Given the description of an element on the screen output the (x, y) to click on. 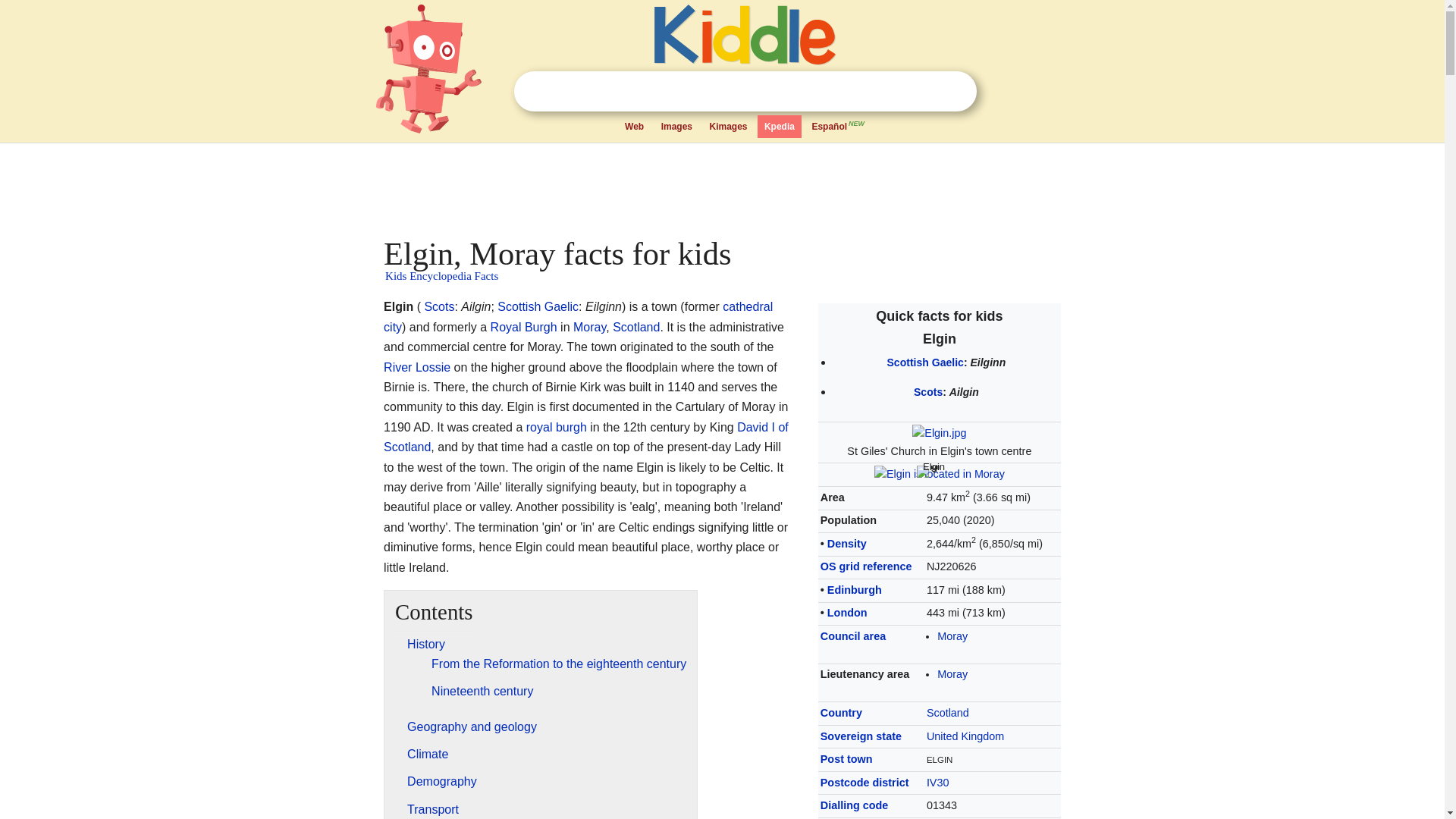
Kimages (727, 126)
IV postcode area (937, 782)
Country (841, 712)
United Kingdom (965, 735)
Elgin (928, 471)
Postcode district (864, 782)
Scottish Gaelic language (924, 362)
cathedral city (578, 316)
Web (633, 126)
Council area (853, 635)
OS grid reference (866, 566)
Clear (924, 91)
Moray (952, 635)
Scots (928, 391)
Scots (438, 306)
